Given the description of an element on the screen output the (x, y) to click on. 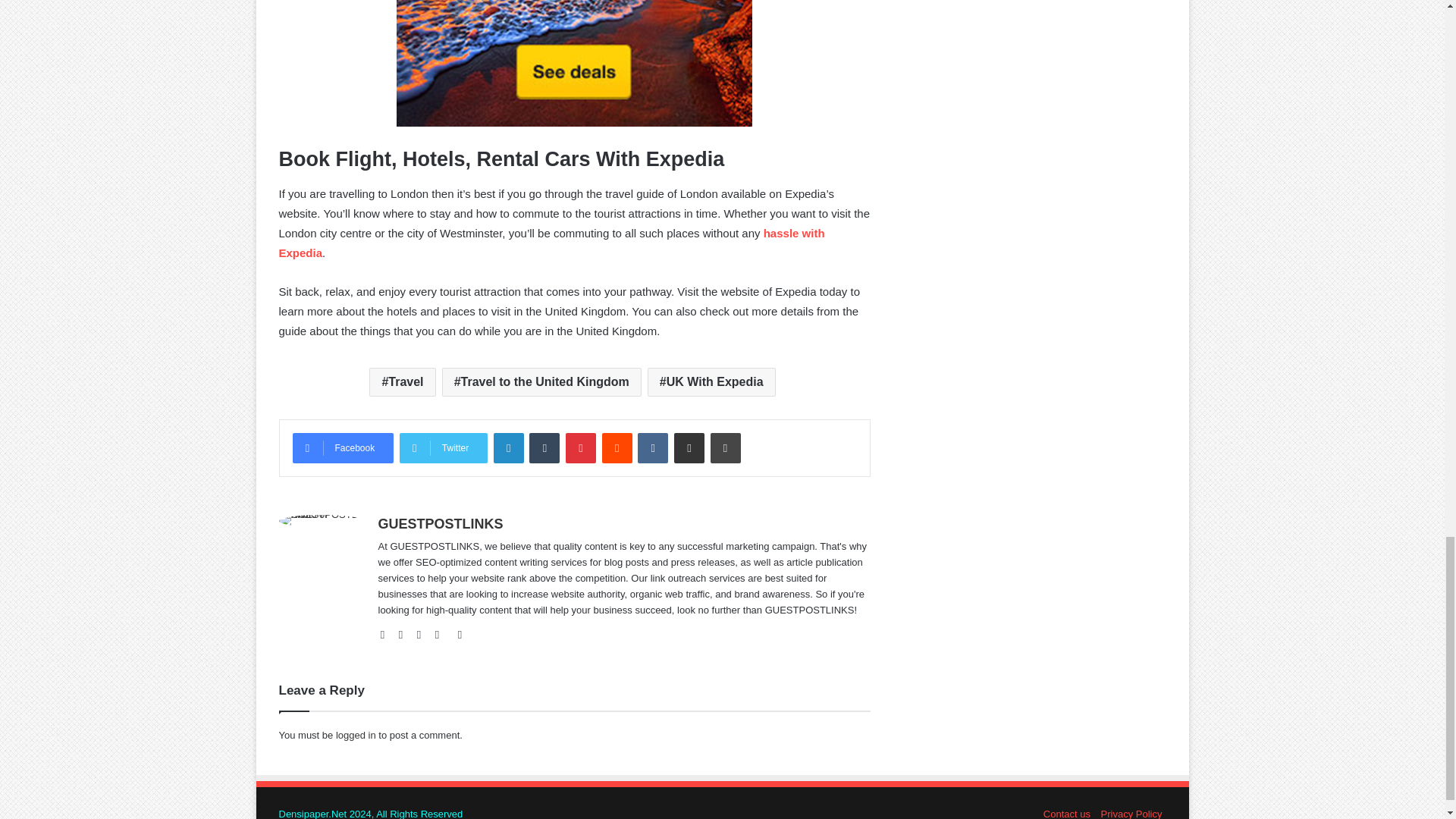
GUESTPOSTLINKS (439, 523)
Reddit (616, 448)
Tumblr (544, 448)
Pinterest (458, 633)
Tumblr (544, 448)
Reddit (616, 448)
Travel to the United Kingdom (542, 381)
Share via Email (689, 448)
Pinterest (580, 448)
Facebook (343, 448)
Pinterest (580, 448)
Twitter (442, 448)
hassle with Expedia (552, 242)
Twitter (422, 633)
Facebook (404, 633)
